Given the description of an element on the screen output the (x, y) to click on. 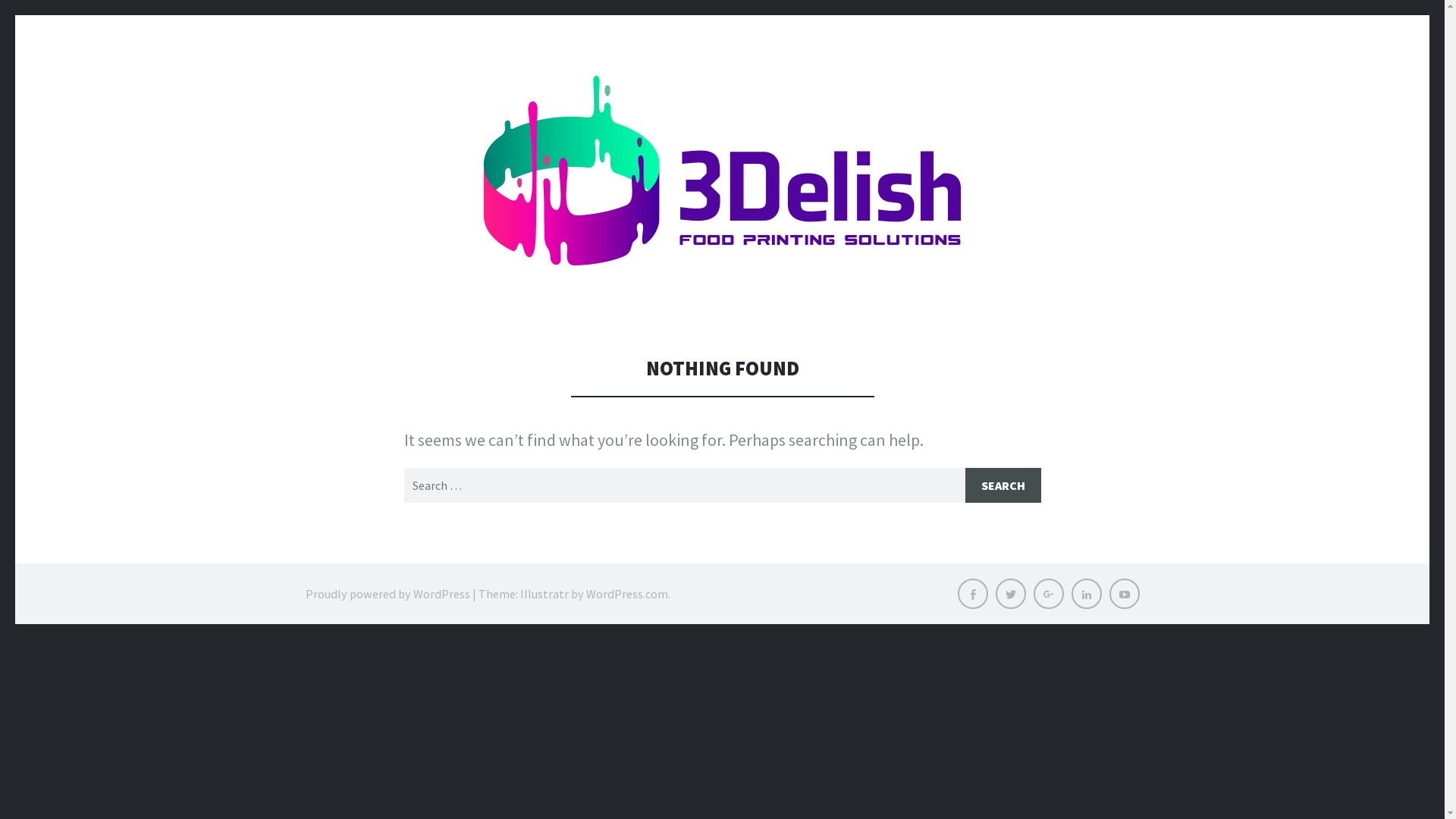
Facebook Element type: text (972, 593)
Proudly powered by WordPress Element type: text (386, 593)
WordPress.com Element type: text (626, 593)
Search Element type: text (1002, 484)
LinkedIn Element type: text (1085, 593)
Youtube Element type: text (1123, 593)
Google Plus Element type: text (1047, 593)
Twitter Element type: text (1009, 593)
